Given the description of an element on the screen output the (x, y) to click on. 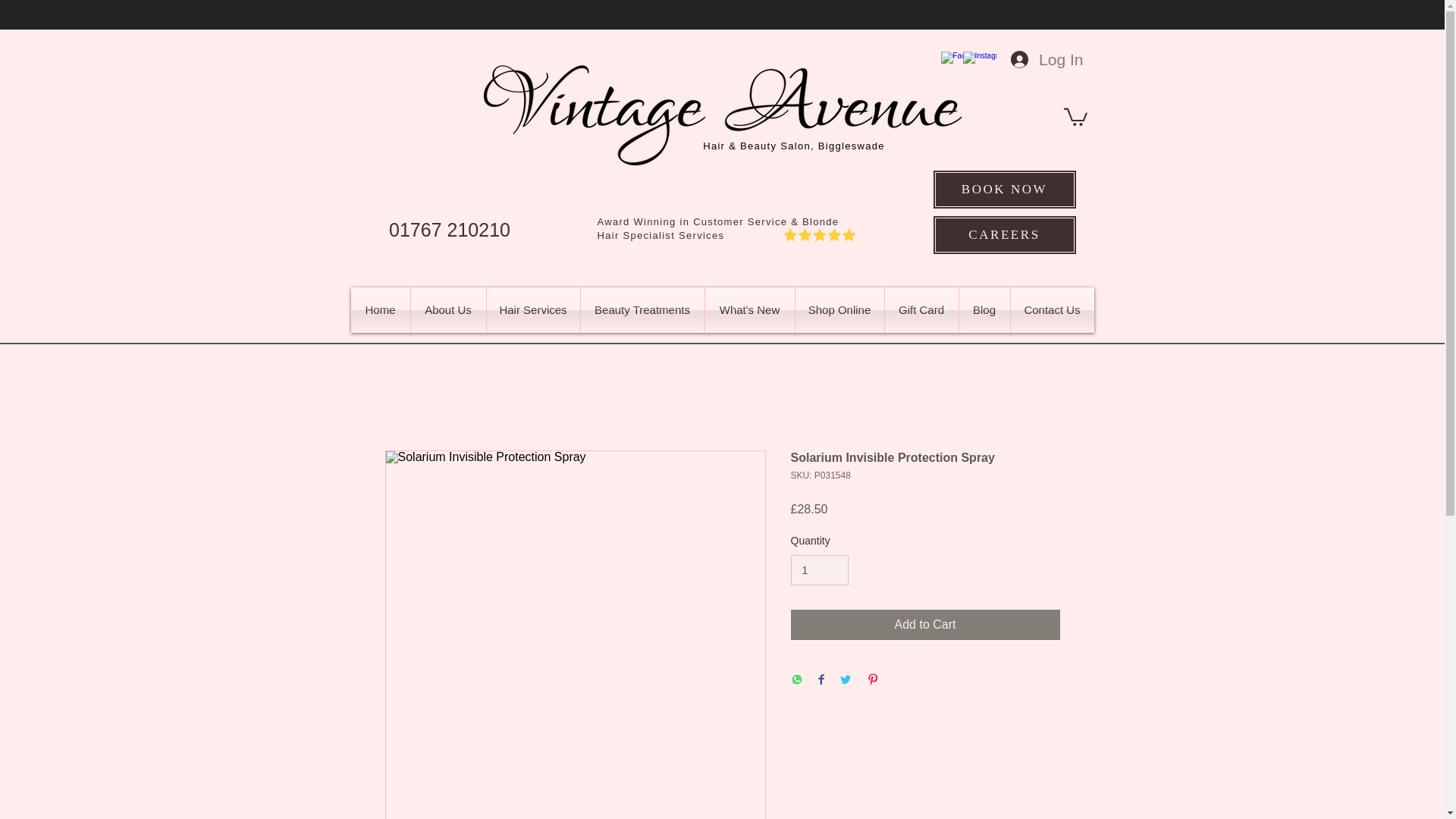
What's New (749, 309)
Beauty Treatments (642, 309)
Gift Card (920, 309)
Add to Cart (924, 624)
1 (818, 570)
Hair Services (532, 309)
Log In (1046, 59)
01767 210210 (449, 229)
CAREERS (1005, 234)
Home (379, 309)
